Given the description of an element on the screen output the (x, y) to click on. 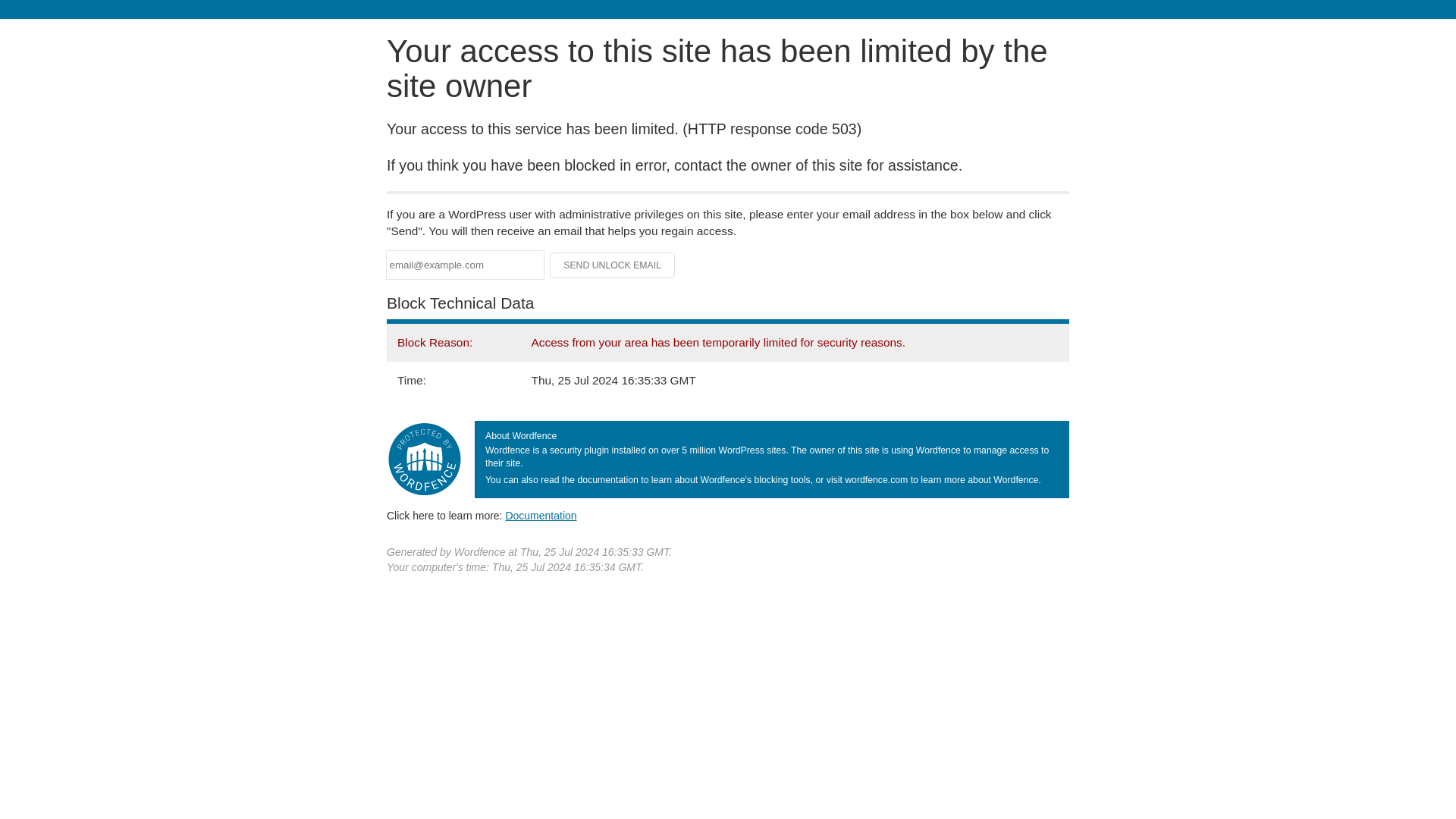
Send Unlock Email (612, 265)
Send Unlock Email (612, 265)
Documentation (540, 515)
